Given the description of an element on the screen output the (x, y) to click on. 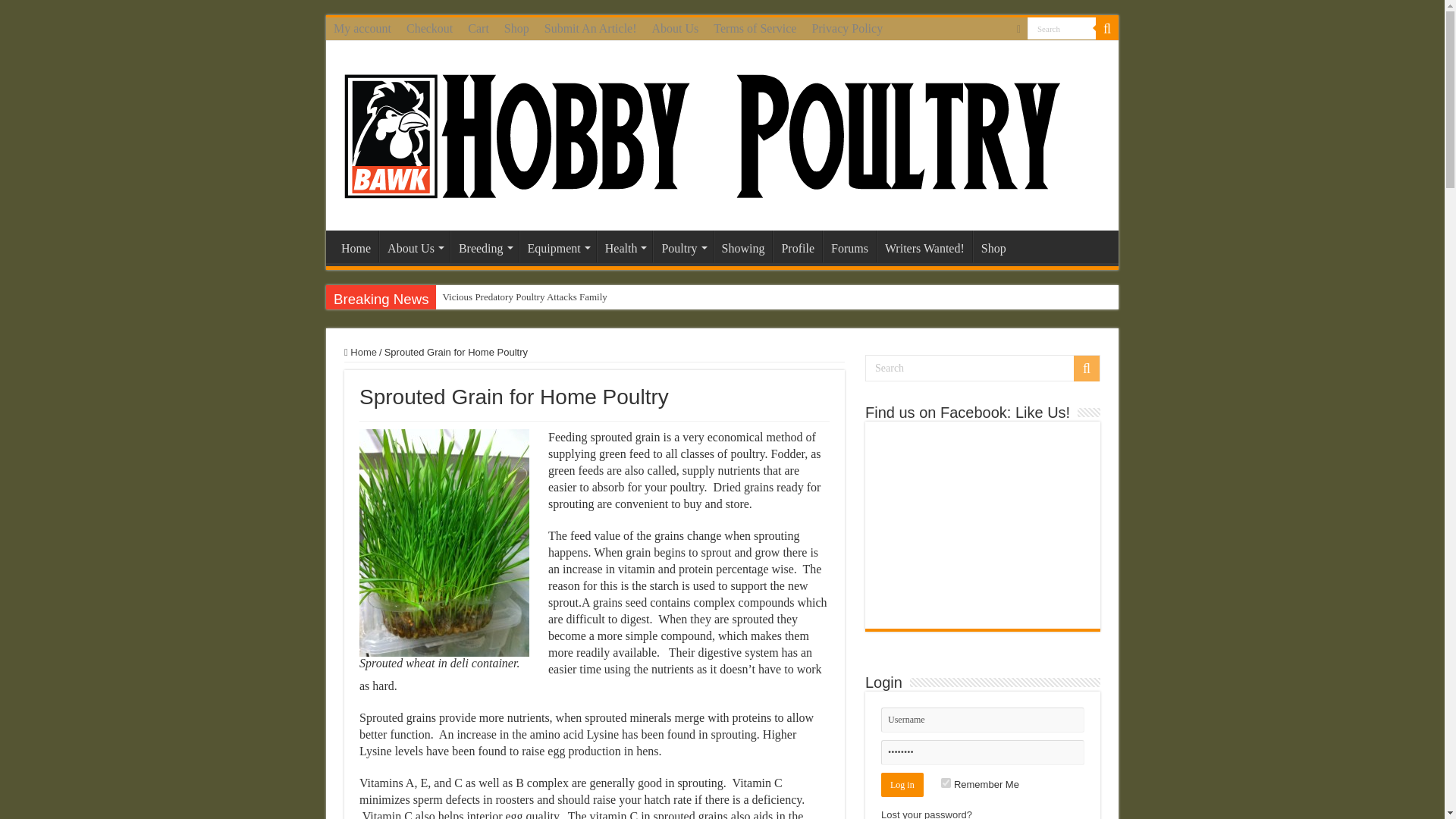
Shop (516, 28)
About Us (413, 246)
Search (1107, 28)
Home (355, 246)
Log in (901, 784)
Username (982, 719)
Checkout (429, 28)
My account (362, 28)
Breeding (483, 246)
About Us (675, 28)
Cart (478, 28)
Hobby Poultry (701, 134)
forever (945, 782)
Submit An Article! (591, 28)
Search (1061, 28)
